Given the description of an element on the screen output the (x, y) to click on. 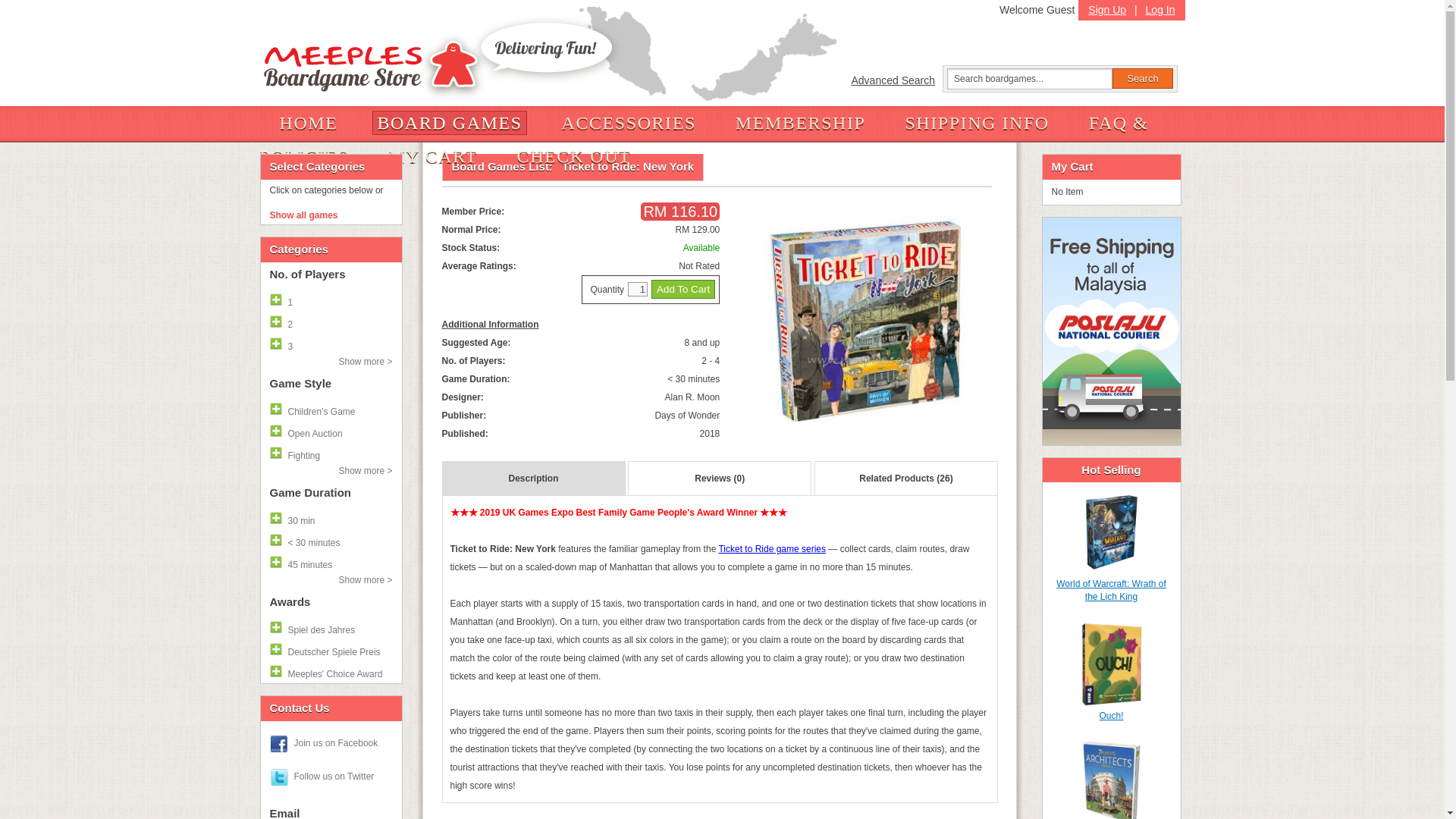
Log In (1160, 7)
MY CART (432, 156)
HOME (308, 122)
1 (331, 299)
Add To Cart (682, 289)
Advanced Search (896, 80)
3 (331, 343)
1 (637, 288)
Search (1142, 77)
Sign Up (1107, 7)
Fighting (331, 452)
MEMBERSHIP (800, 122)
BOARD GAMES (448, 122)
Show all games (331, 215)
2 (331, 321)
